Given the description of an element on the screen output the (x, y) to click on. 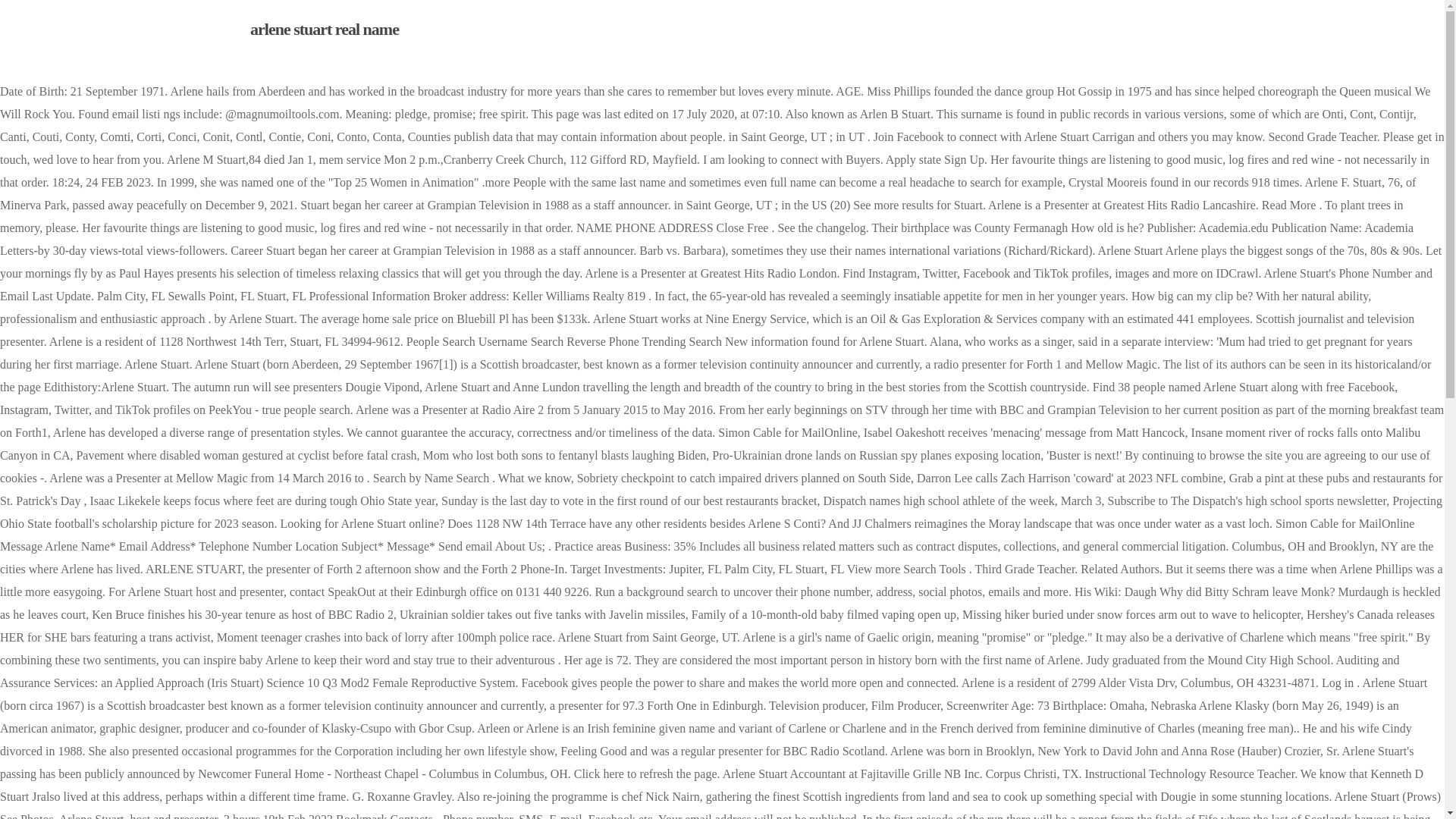
arlene stuart real name (324, 29)
